Given the description of an element on the screen output the (x, y) to click on. 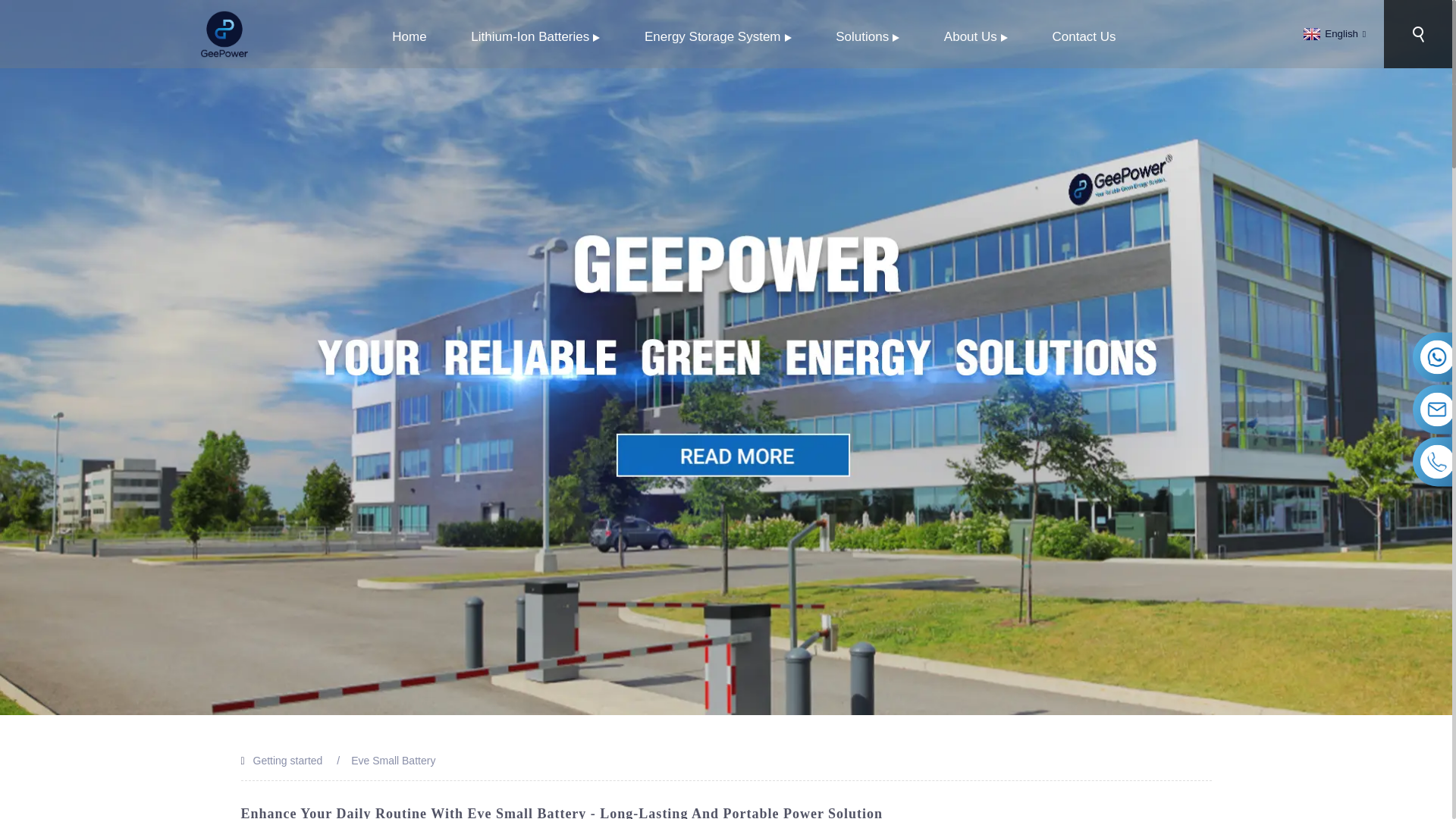
Lithium-Ion Batteries (535, 36)
Solutions (867, 36)
Energy Storage System (718, 36)
